Given the description of an element on the screen output the (x, y) to click on. 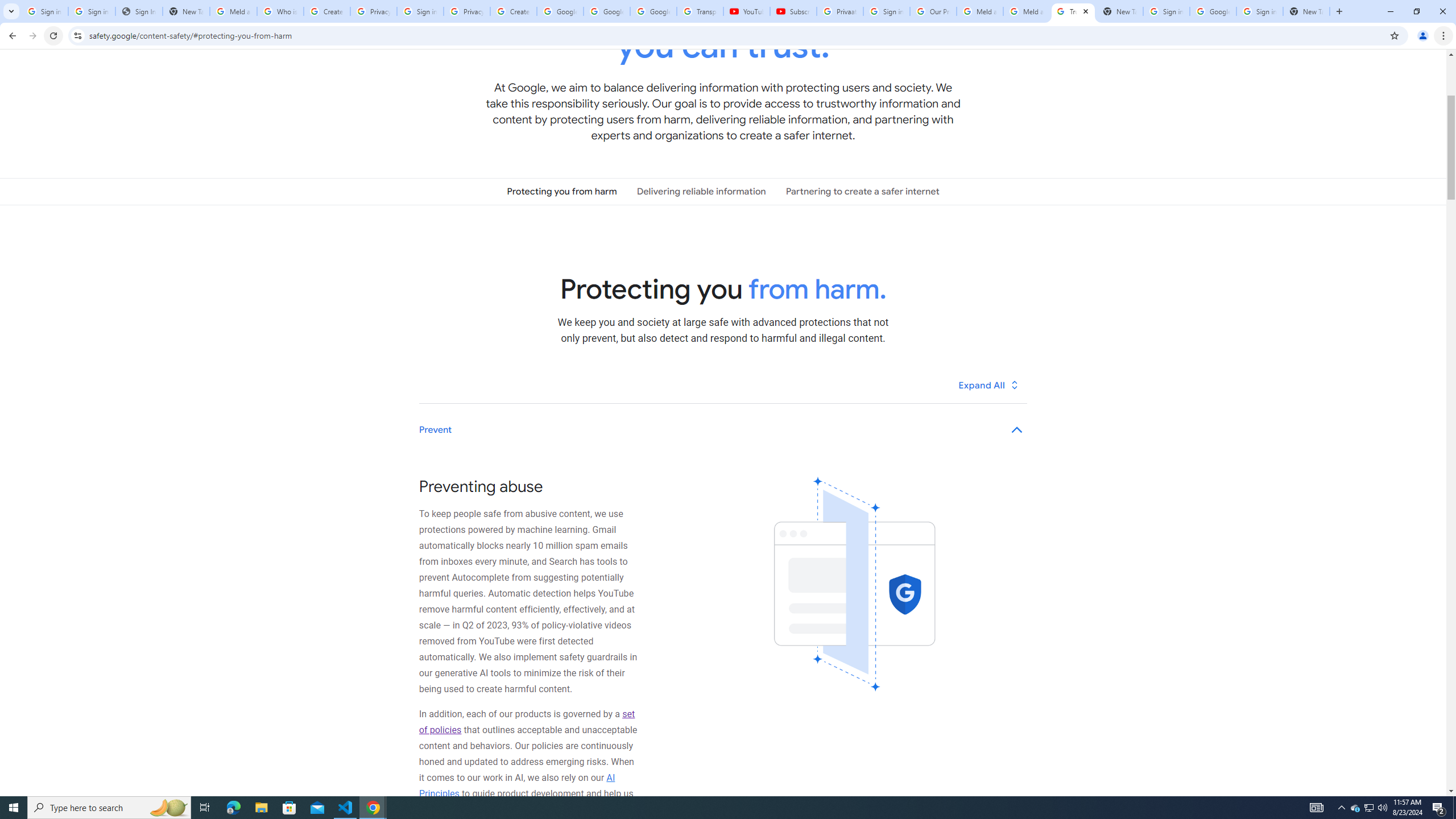
Decrease Text Size (1302, 773)
New comment (1221, 64)
Workpane Options Menu (1371, 77)
Tools (72, 11)
Auto-hide Reading Toolbar (1312, 11)
Move (1371, 59)
Filter (1433, 64)
Increase Text Size (1403, 773)
